Given the description of an element on the screen output the (x, y) to click on. 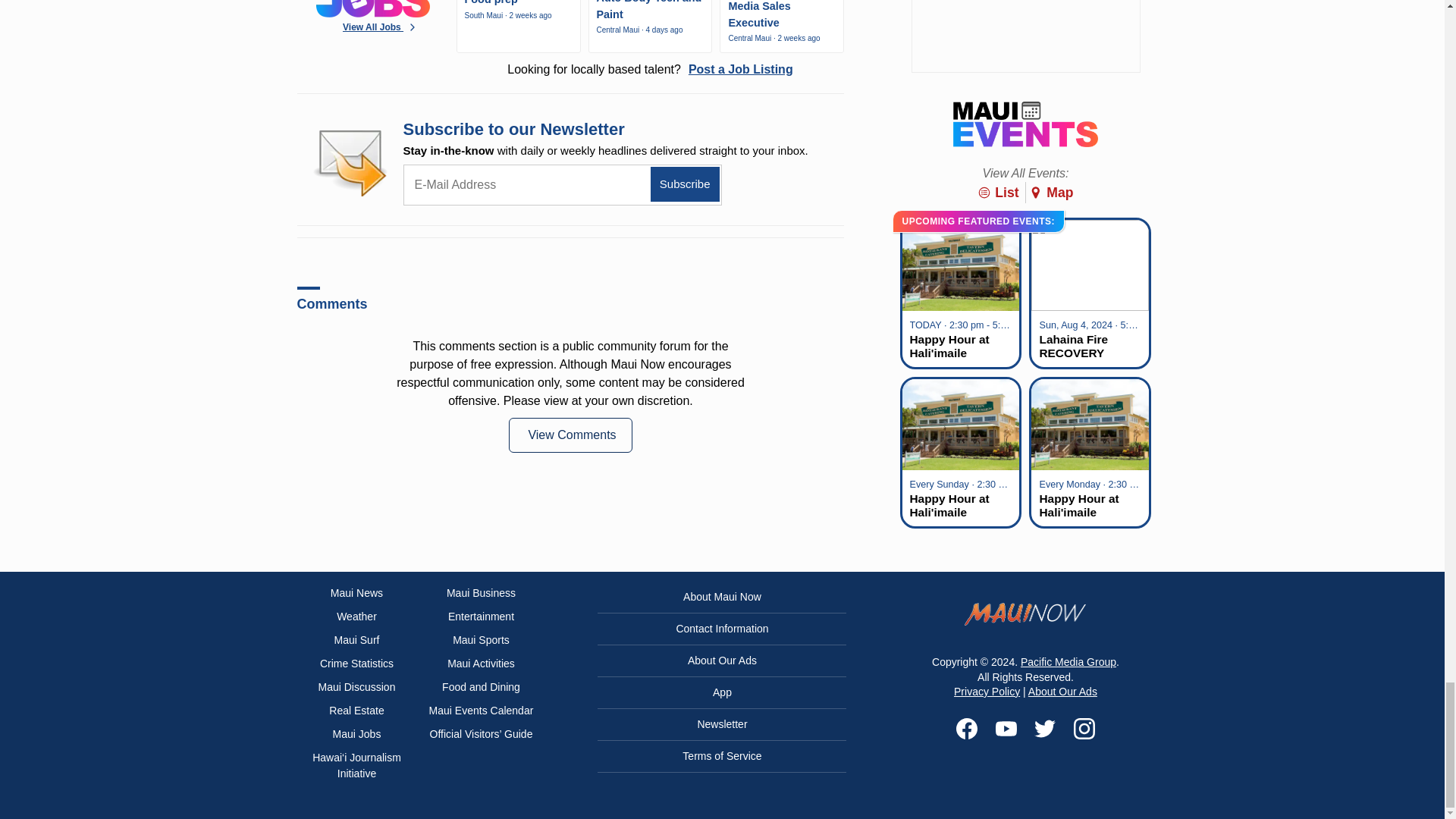
Chevron Forward (412, 27)
List Circle (983, 192)
Instagram (1084, 728)
Subscribe (684, 184)
3rd party ad content (1025, 36)
YouTube (1005, 728)
Twitter (1044, 728)
Facebook (966, 728)
